Given the description of an element on the screen output the (x, y) to click on. 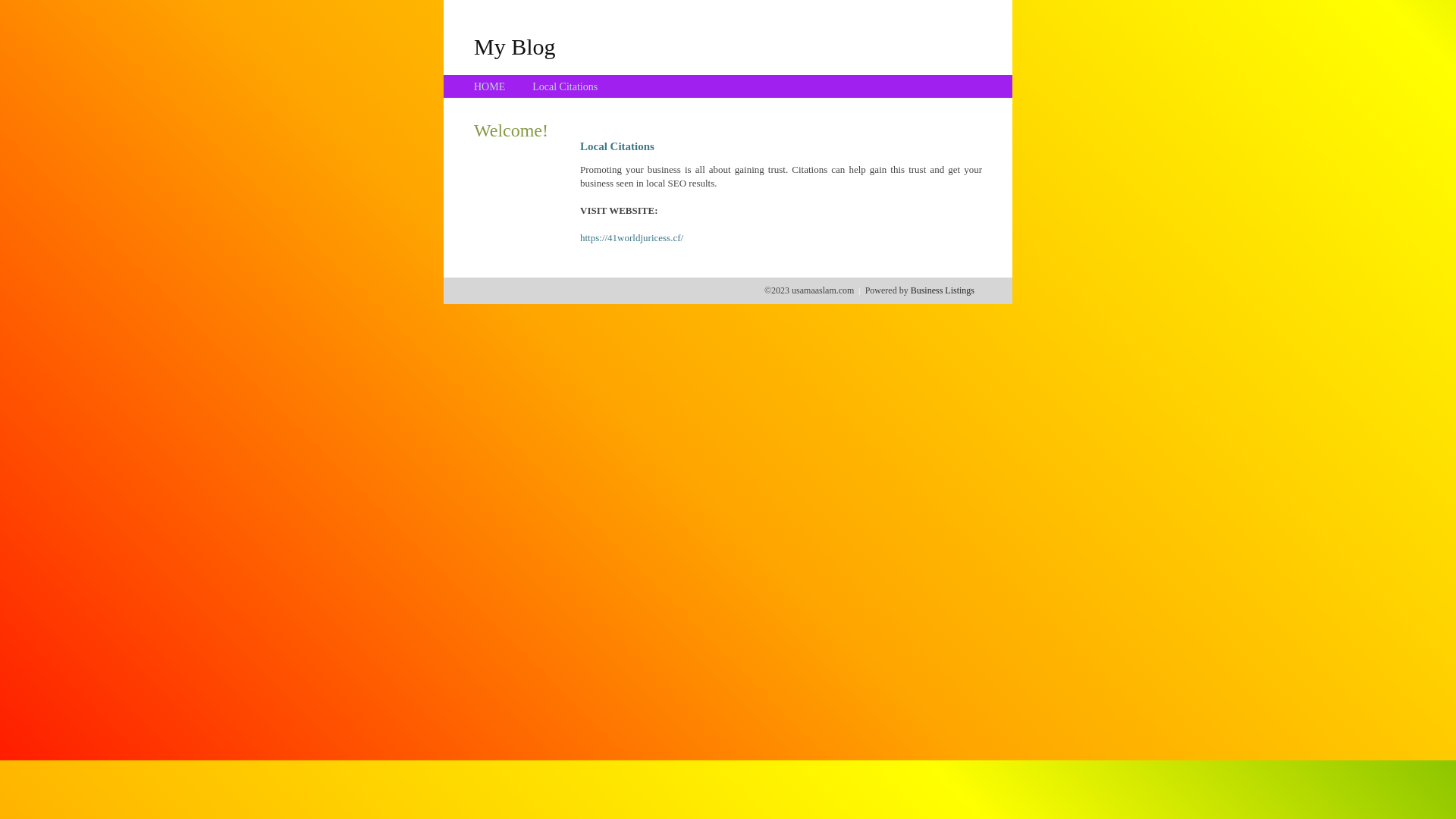
Local Citations Element type: text (564, 86)
Business Listings Element type: text (942, 290)
My Blog Element type: text (514, 46)
https://41worldjuricess.cf/ Element type: text (631, 237)
HOME Element type: text (489, 86)
